Given the description of an element on the screen output the (x, y) to click on. 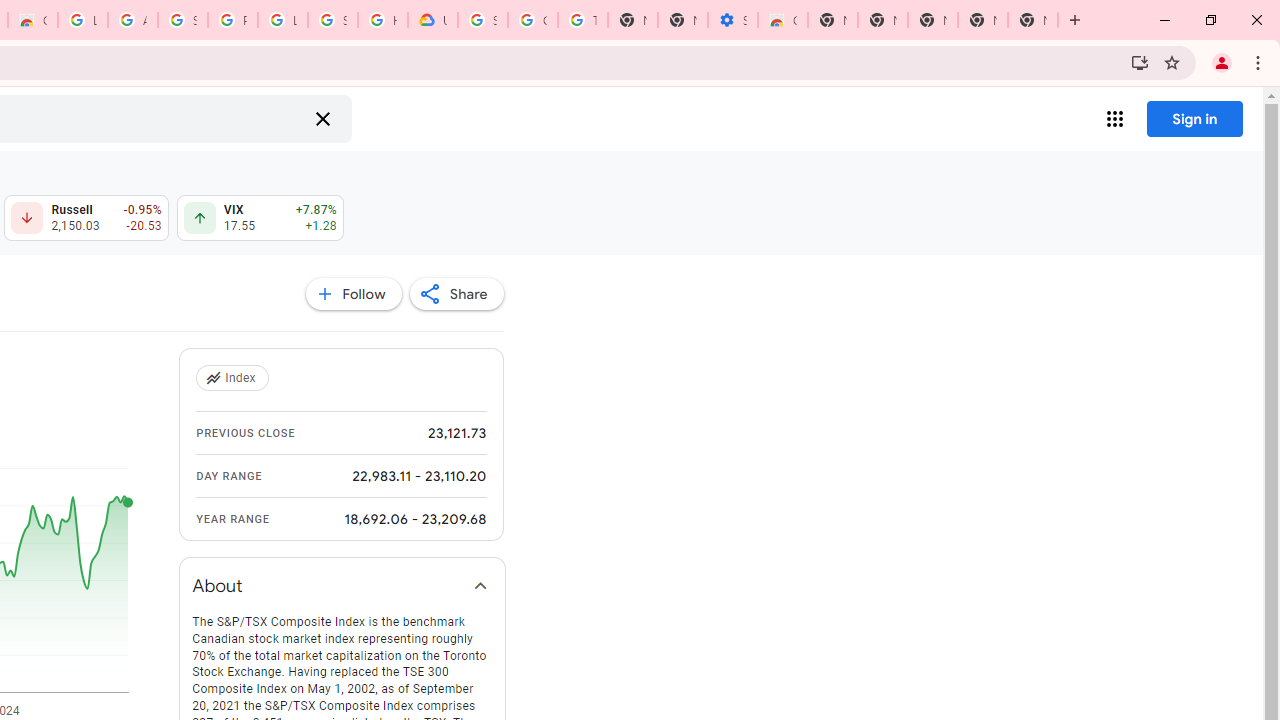
Index (233, 377)
VIX 17.55 Up by 7.87% +1.28 (260, 218)
Ad Settings (132, 20)
Settings - Accessibility (732, 20)
Follow (353, 293)
